Given the description of an element on the screen output the (x, y) to click on. 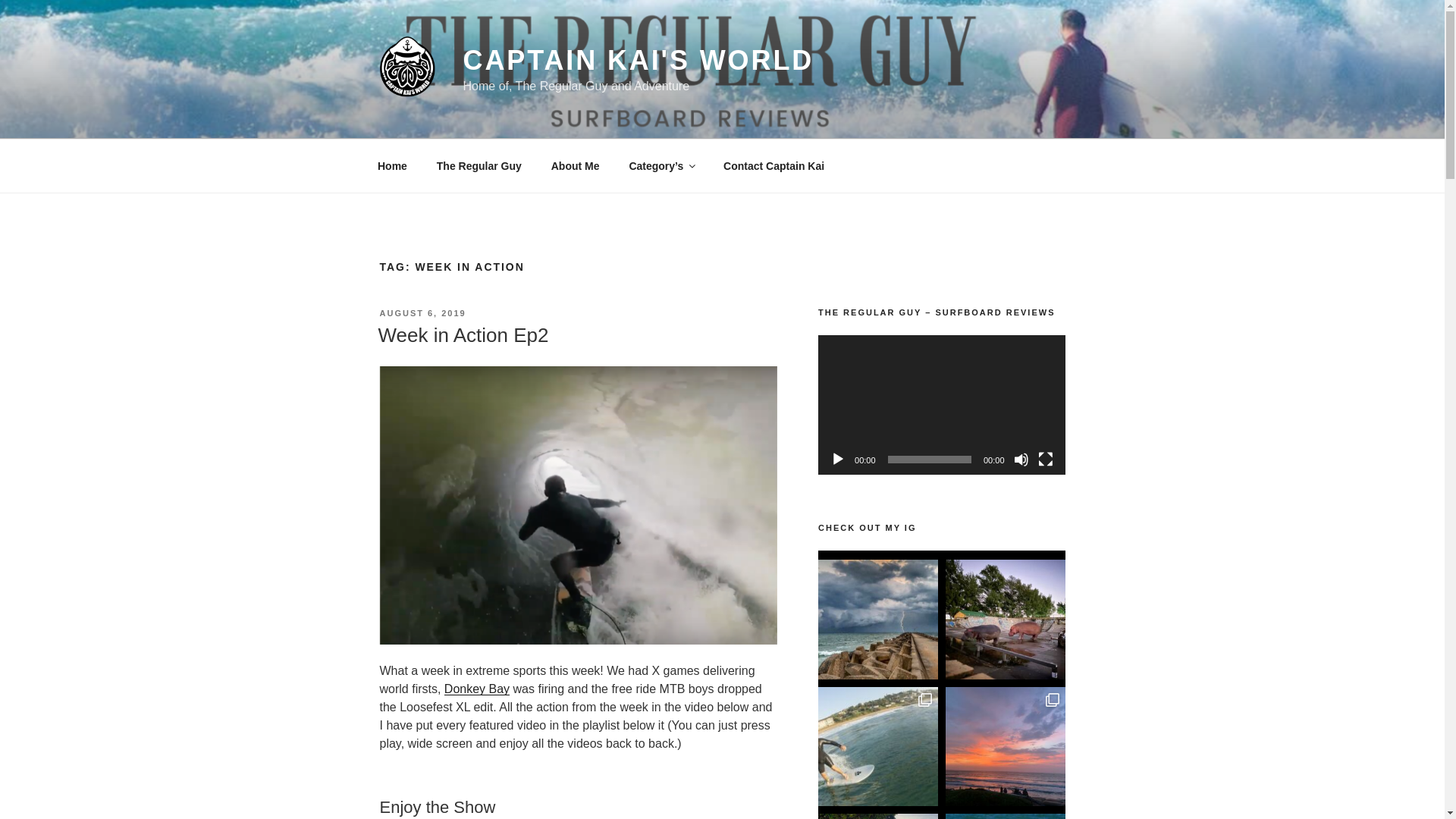
Donkey Bay (476, 688)
About Me (574, 165)
Play (837, 459)
Contact Captain Kai (774, 165)
Home (392, 165)
The Regular Guy (478, 165)
CAPTAIN KAI'S WORLD (638, 60)
Week in Action Ep2 (462, 334)
Mute (1020, 459)
AUGUST 6, 2019 (421, 312)
